Given the description of an element on the screen output the (x, y) to click on. 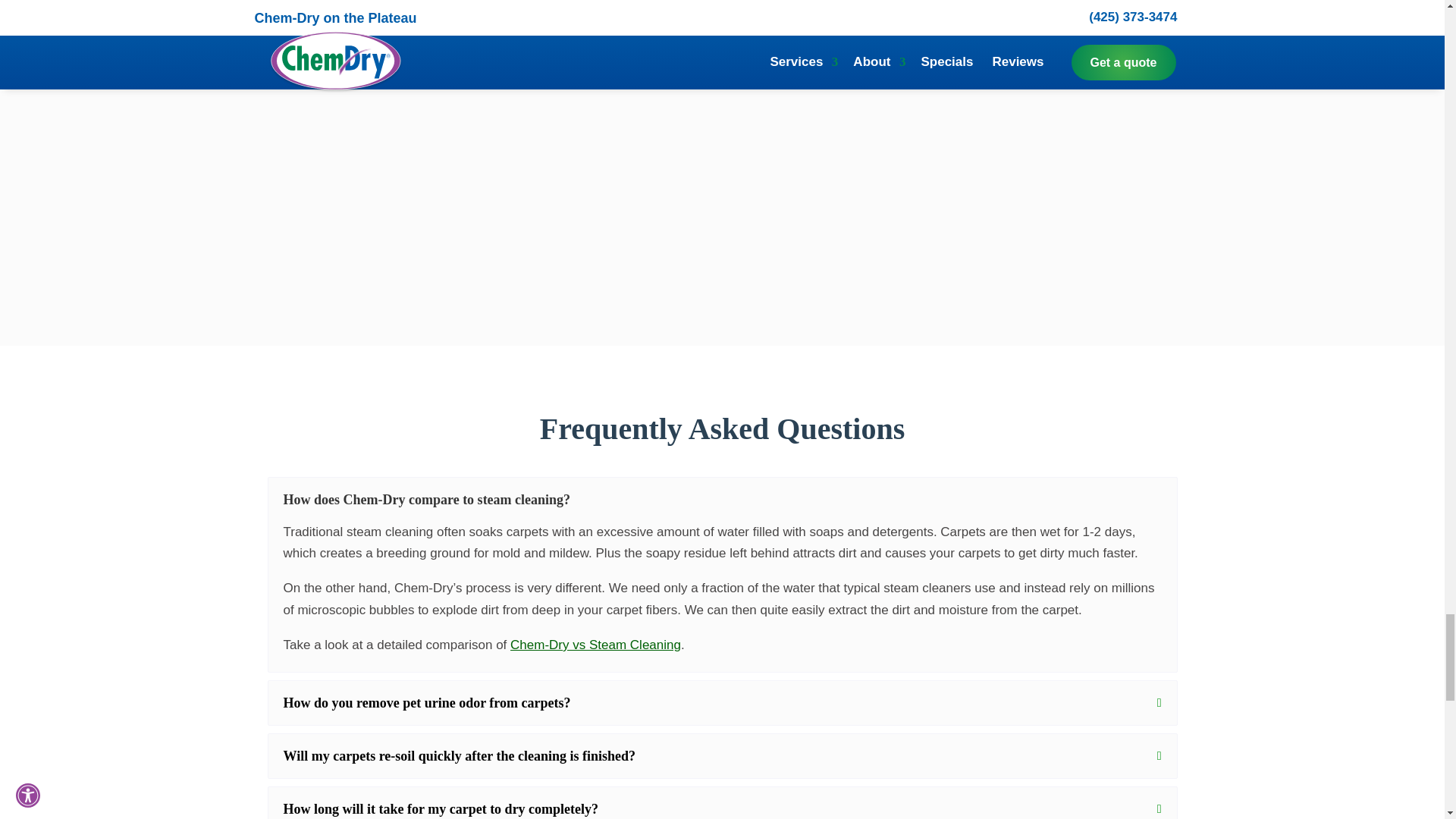
Chem-Dry vs Steam Cleaning (596, 644)
Chem-Dry vs Steam Cleaning (596, 644)
Learn more (788, 31)
